Given the description of an element on the screen output the (x, y) to click on. 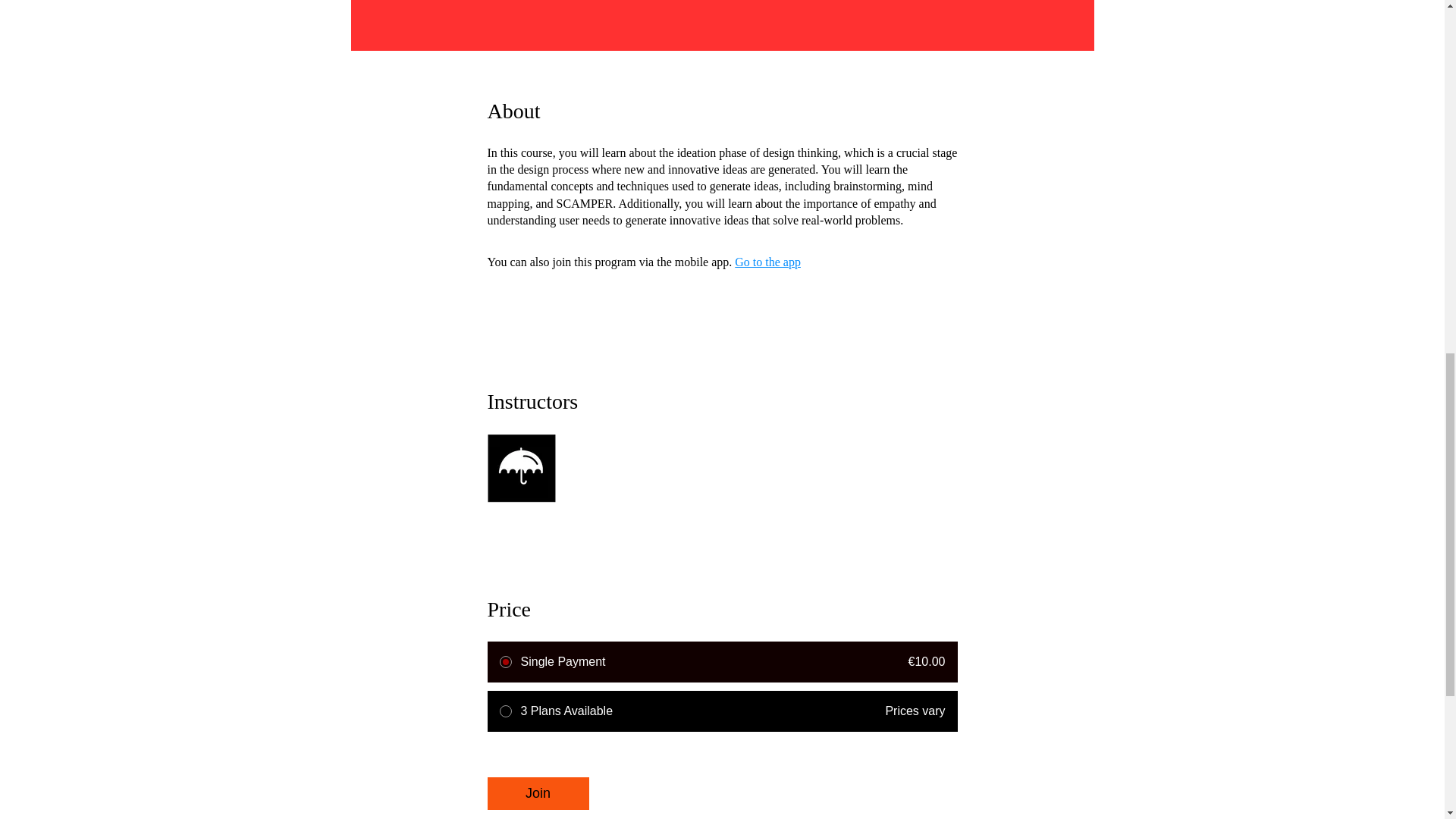
Go to the app (767, 260)
Join (537, 793)
Social Entrepreneurship (721, 457)
